Given the description of an element on the screen output the (x, y) to click on. 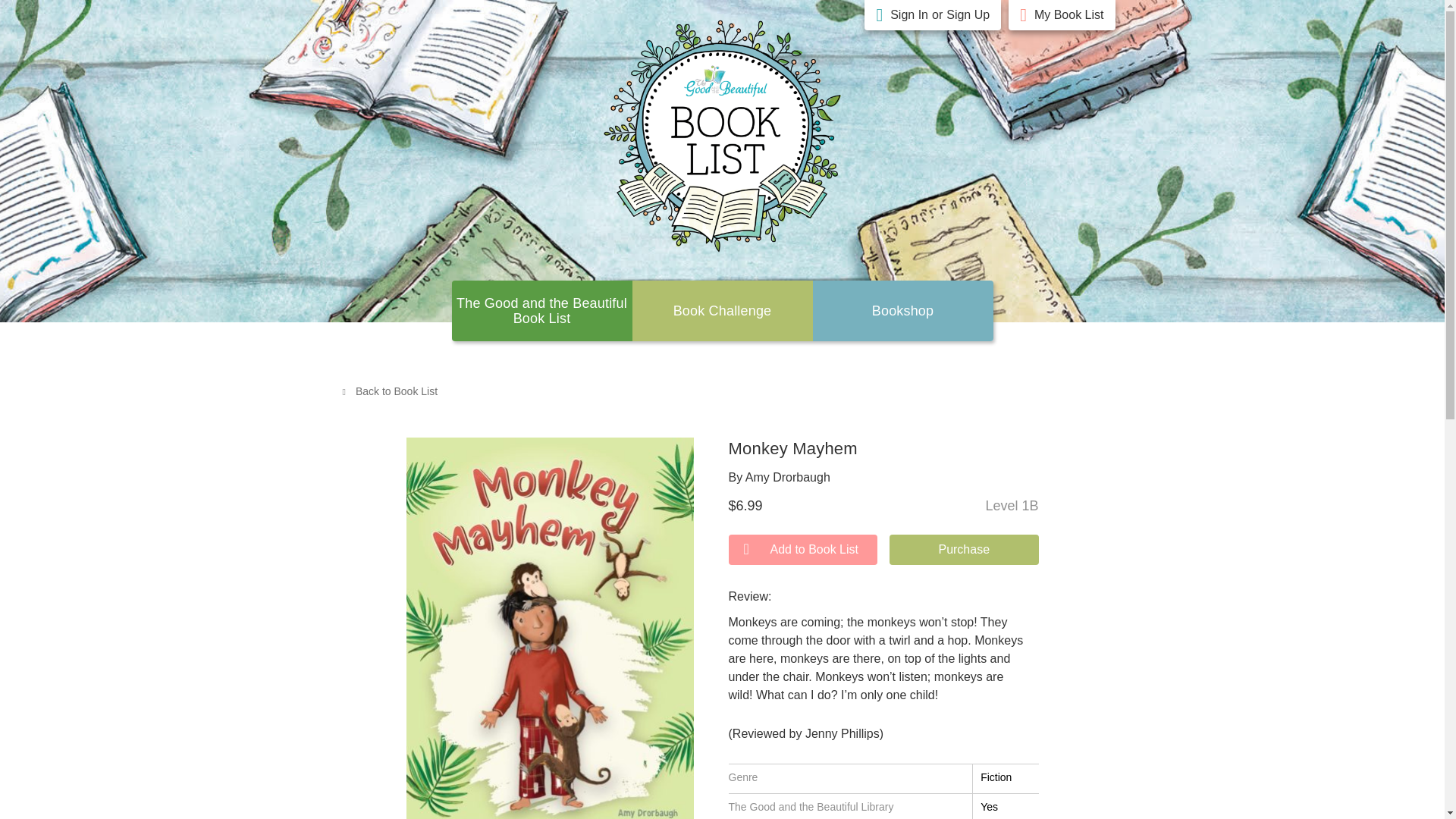
Book Challenge (721, 310)
Bookshop (903, 310)
Sign Up (968, 14)
Library (903, 310)
The Good and the Beautiful Book List (541, 310)
Purchase (964, 549)
My Book List (1068, 14)
Add to Book List (802, 549)
Back to Book List (389, 390)
Sign In (908, 14)
